Given the description of an element on the screen output the (x, y) to click on. 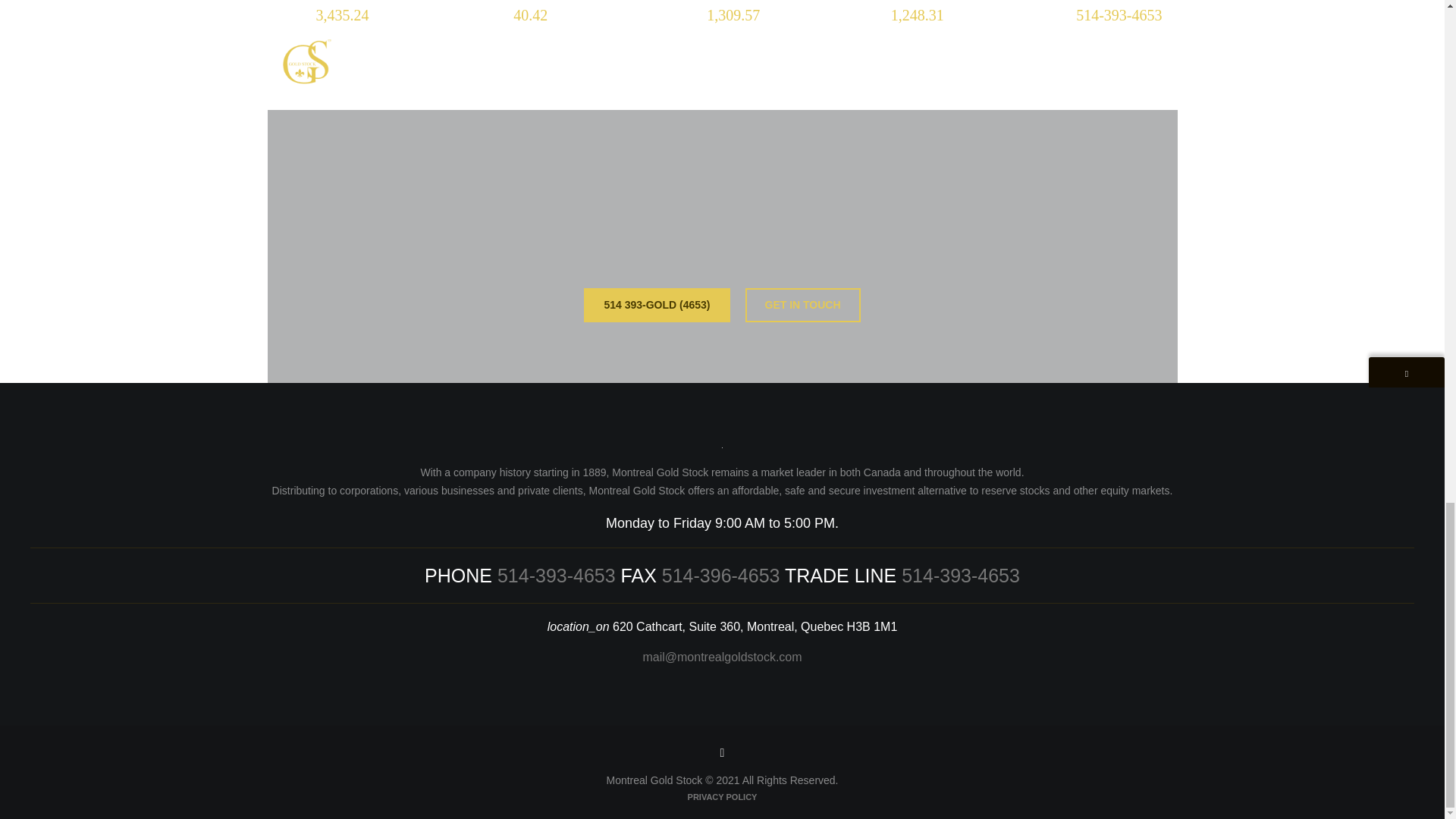
Contact (802, 305)
514-393-4653 (556, 575)
514-393-4653 (960, 575)
GET IN TOUCH (802, 305)
514-396-4653 (721, 575)
